Given the description of an element on the screen output the (x, y) to click on. 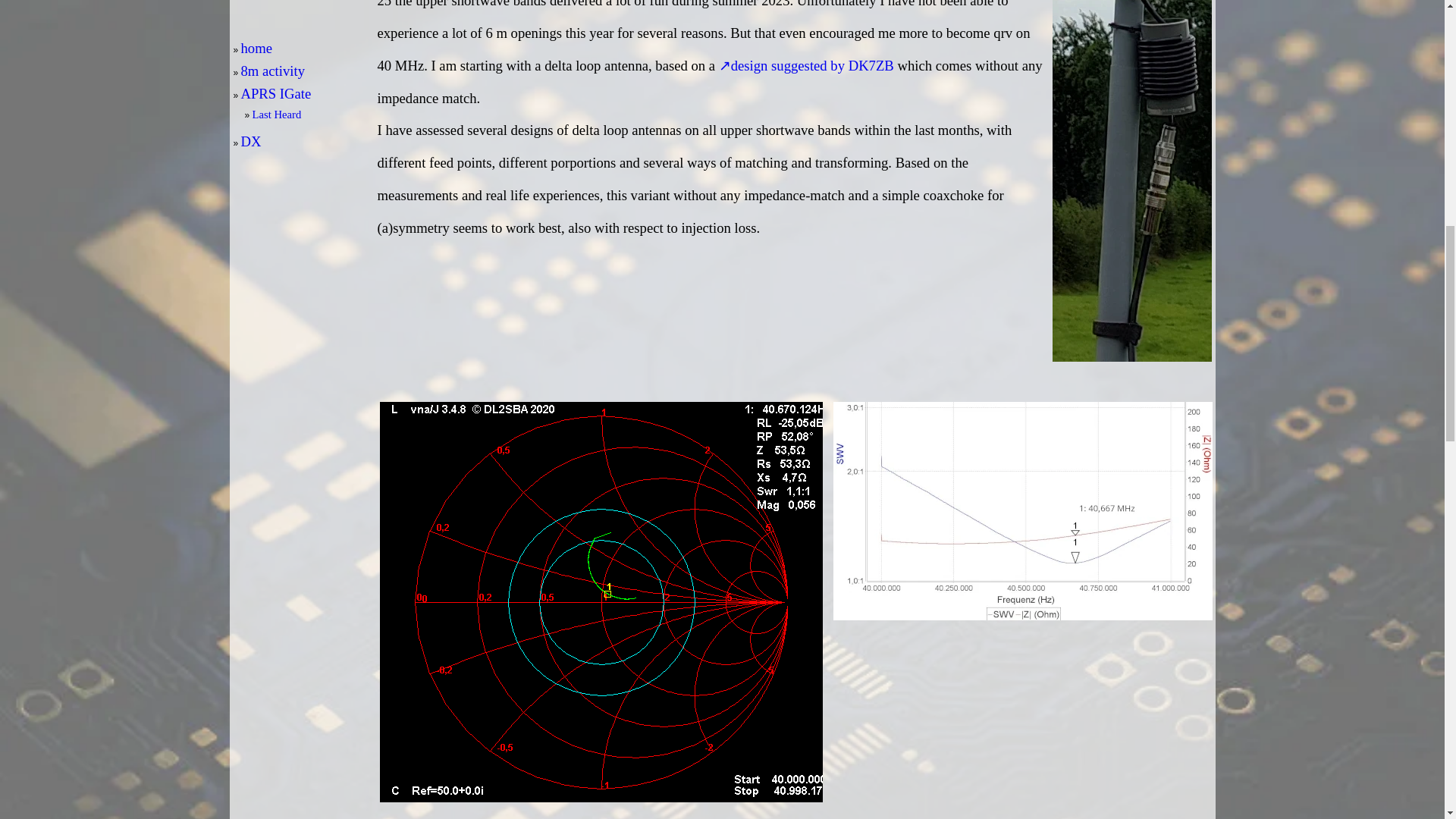
design suggested by DK7ZB (806, 65)
